Given the description of an element on the screen output the (x, y) to click on. 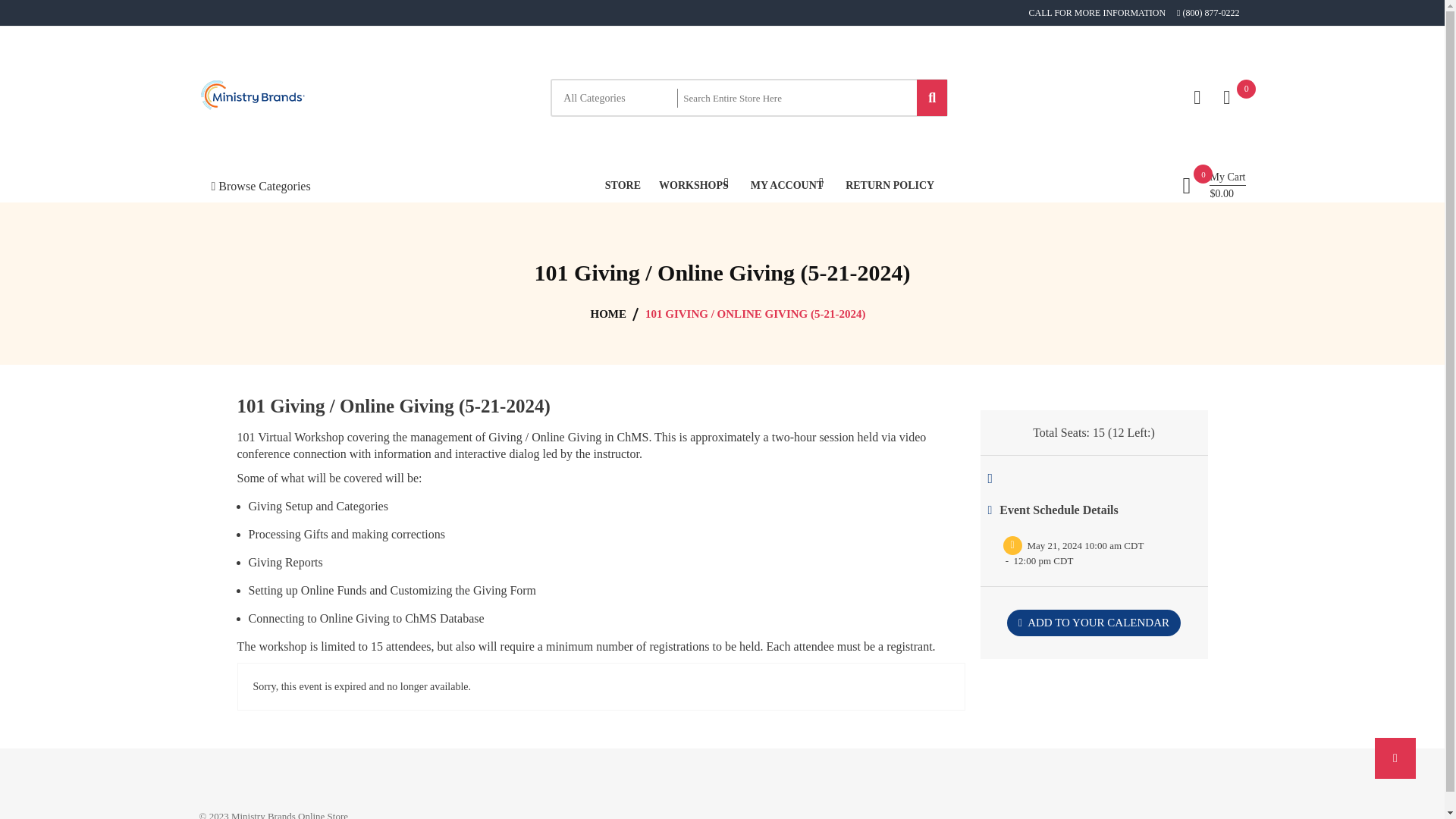
Browse Categories (259, 184)
WORKSHOPS (694, 185)
STORE (622, 185)
